Given the description of an element on the screen output the (x, y) to click on. 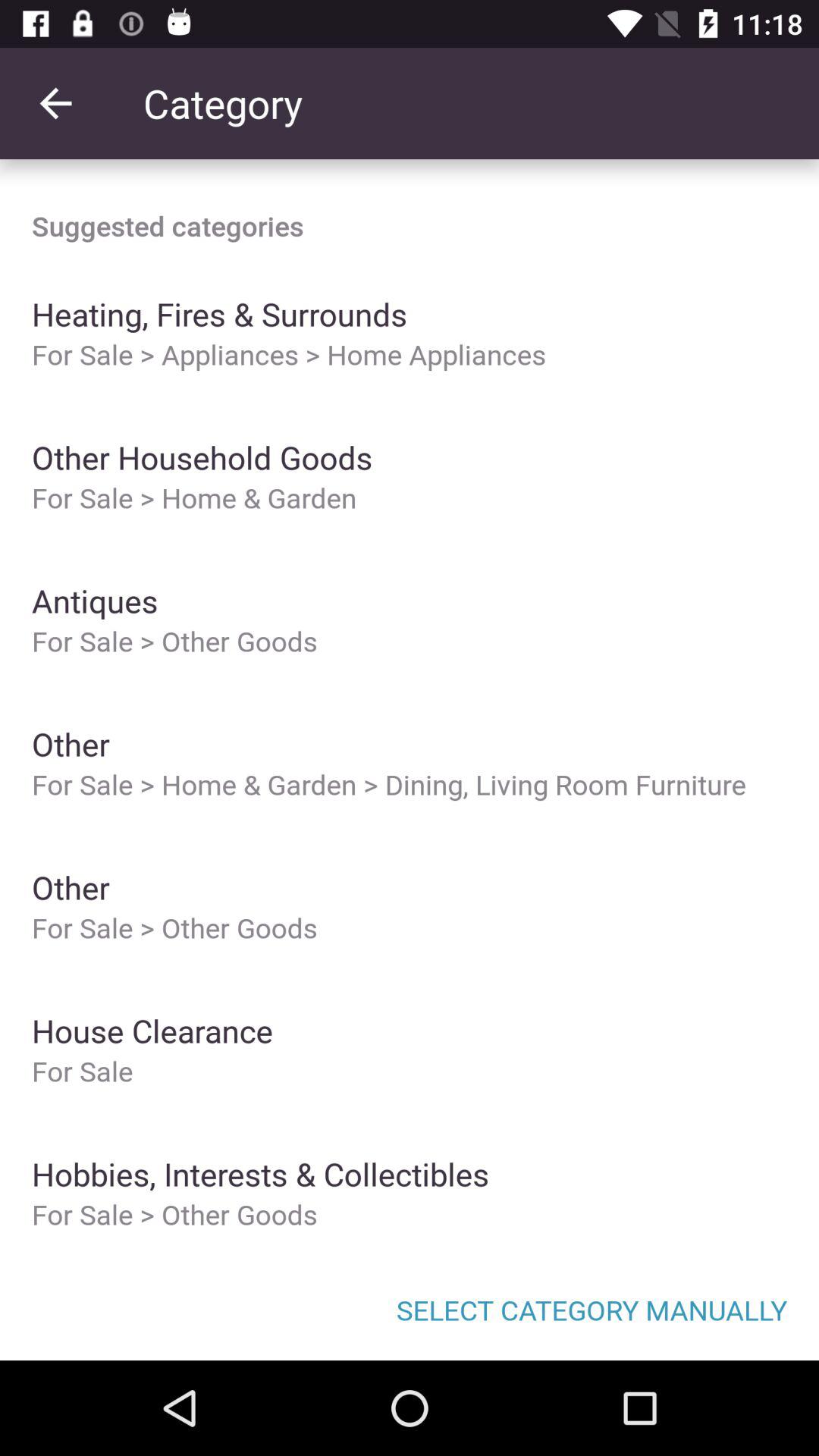
click select category manually (409, 1309)
